Given the description of an element on the screen output the (x, y) to click on. 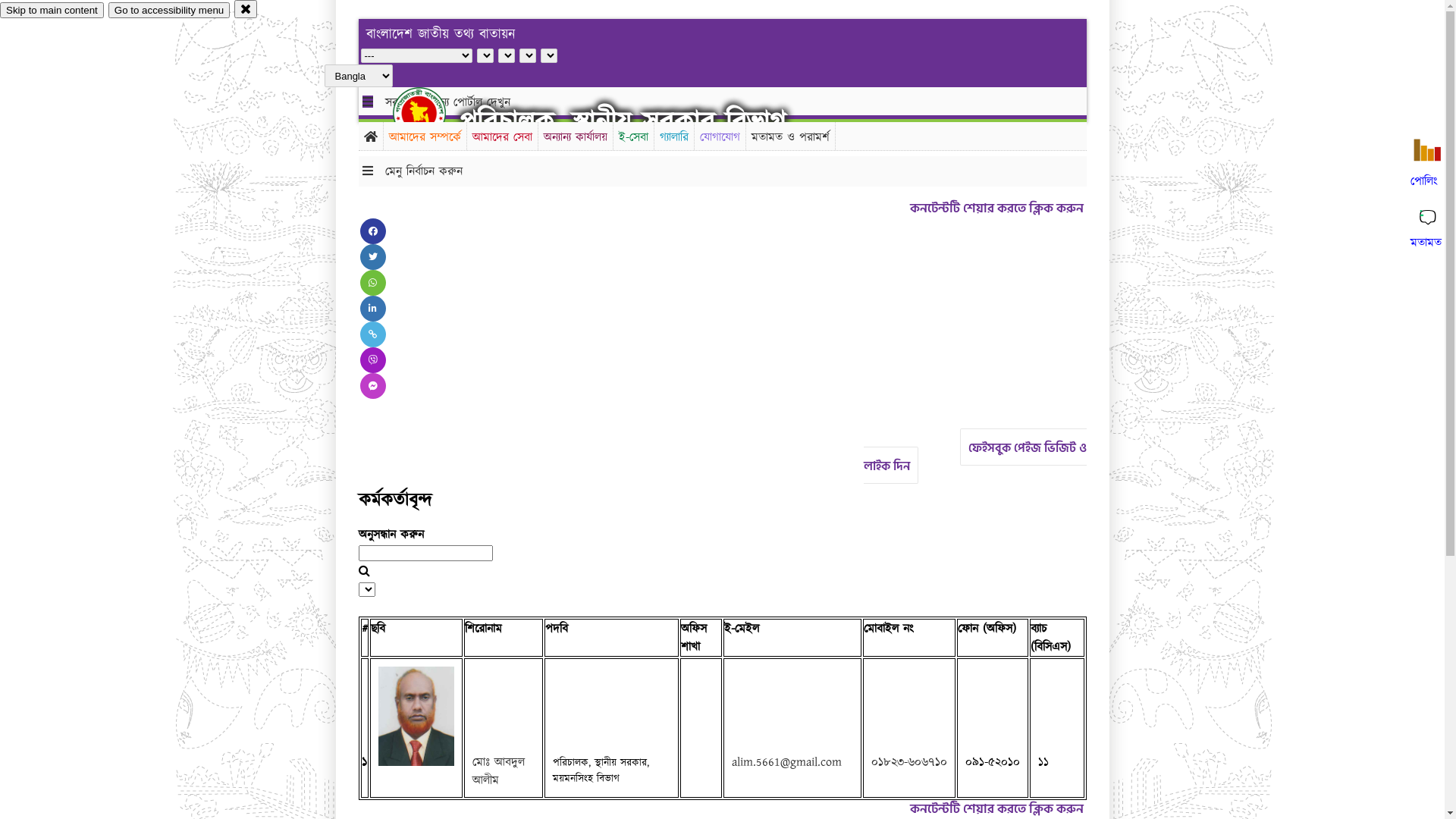
alim.5661@gmail.com Element type: text (786, 761)
close Element type: hover (245, 9)

                
             Element type: hover (431, 112)
Skip to main content Element type: text (51, 10)
Go to accessibility menu Element type: text (168, 10)
